Given the description of an element on the screen output the (x, y) to click on. 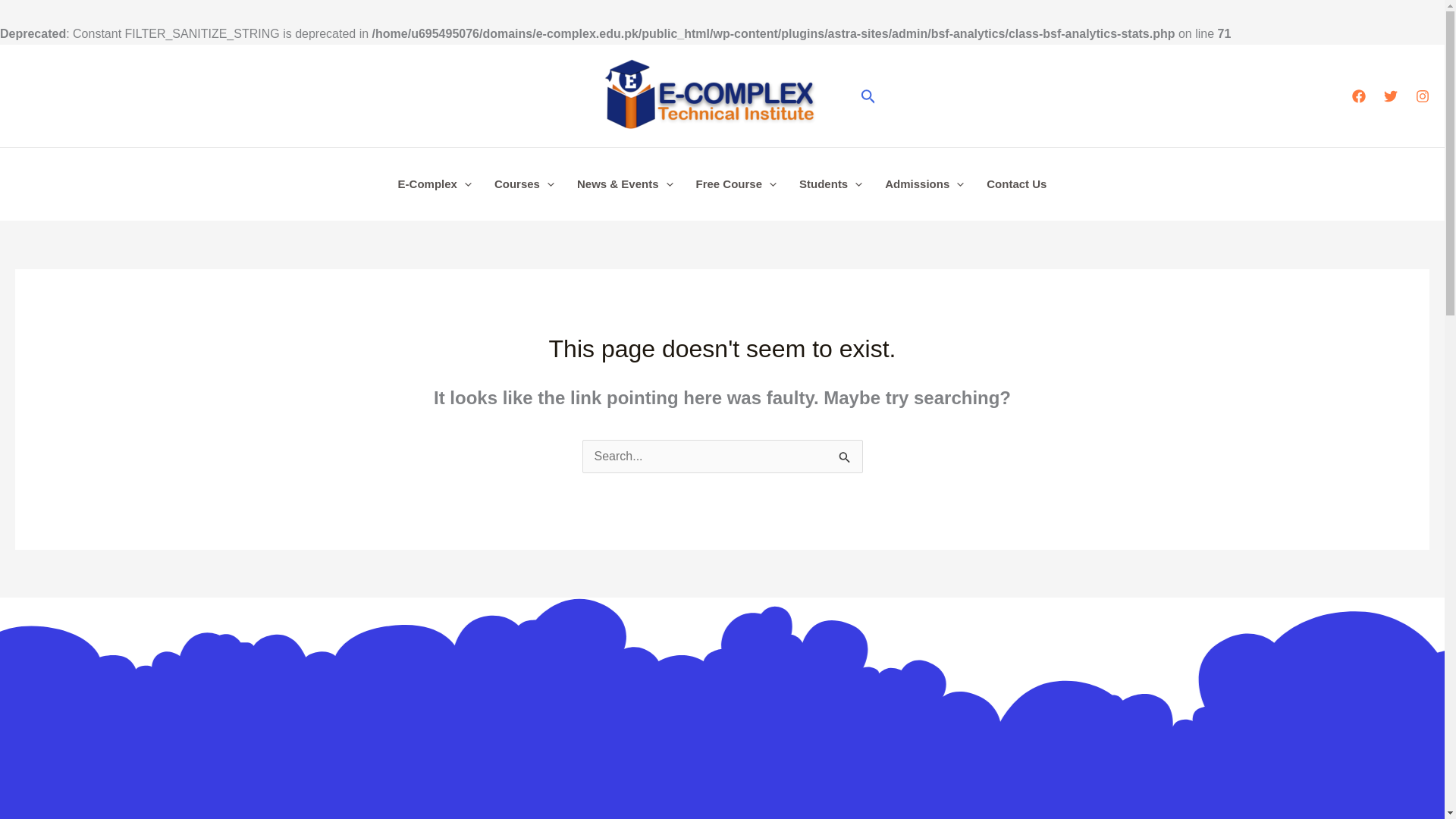
Free Course (735, 184)
Courses (524, 184)
Students (830, 184)
E-Complex (435, 184)
